Given the description of an element on the screen output the (x, y) to click on. 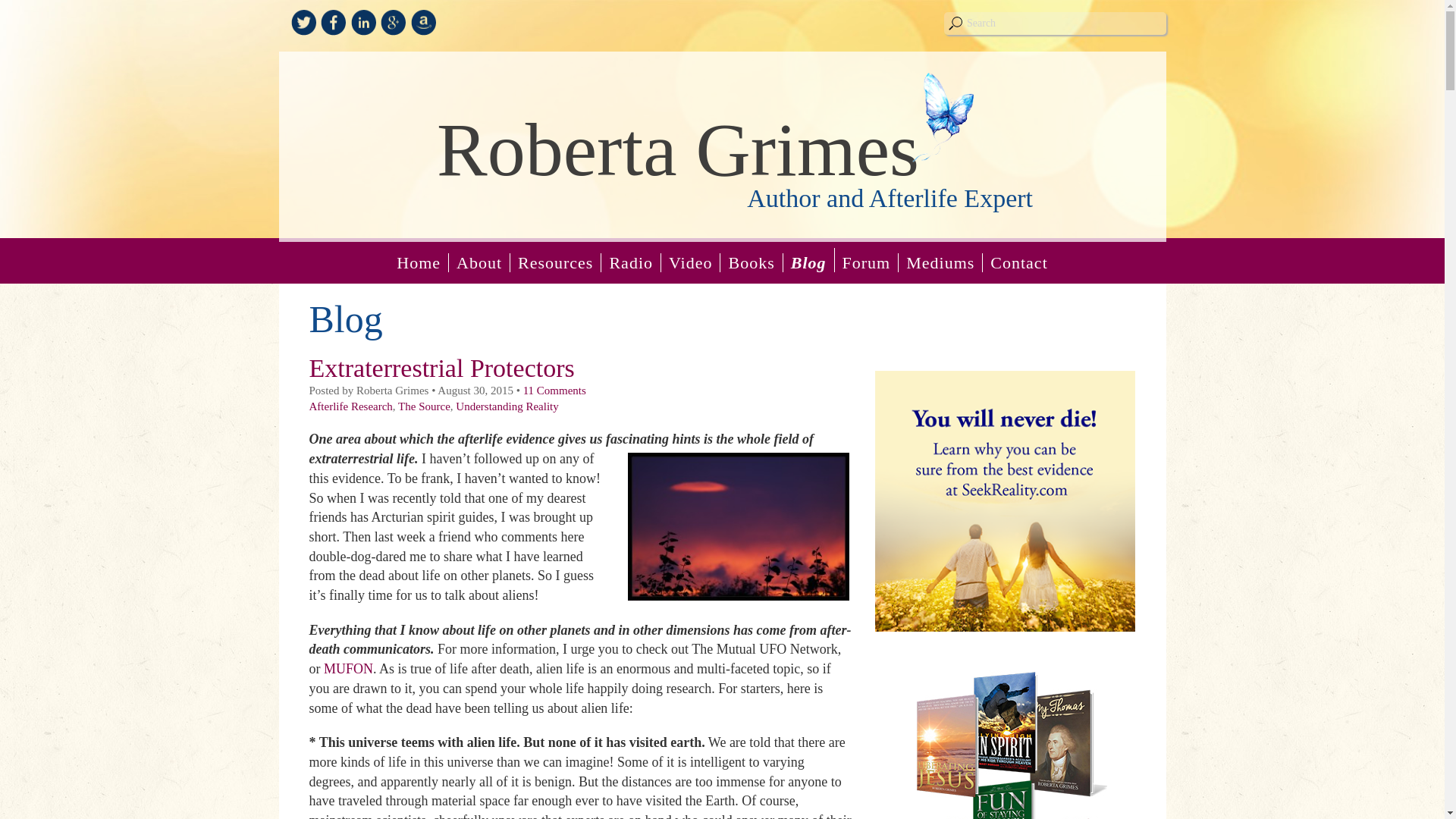
Search (1054, 23)
The Source (423, 406)
Afterlife Research (350, 406)
Radio (631, 262)
Home (418, 262)
Contact (1018, 262)
About (479, 262)
MUFON (347, 668)
Resources (556, 262)
Blog (808, 259)
Forum (866, 262)
Video (690, 262)
11 Comments (554, 390)
Mediums (940, 262)
Understanding Reality (506, 406)
